Given the description of an element on the screen output the (x, y) to click on. 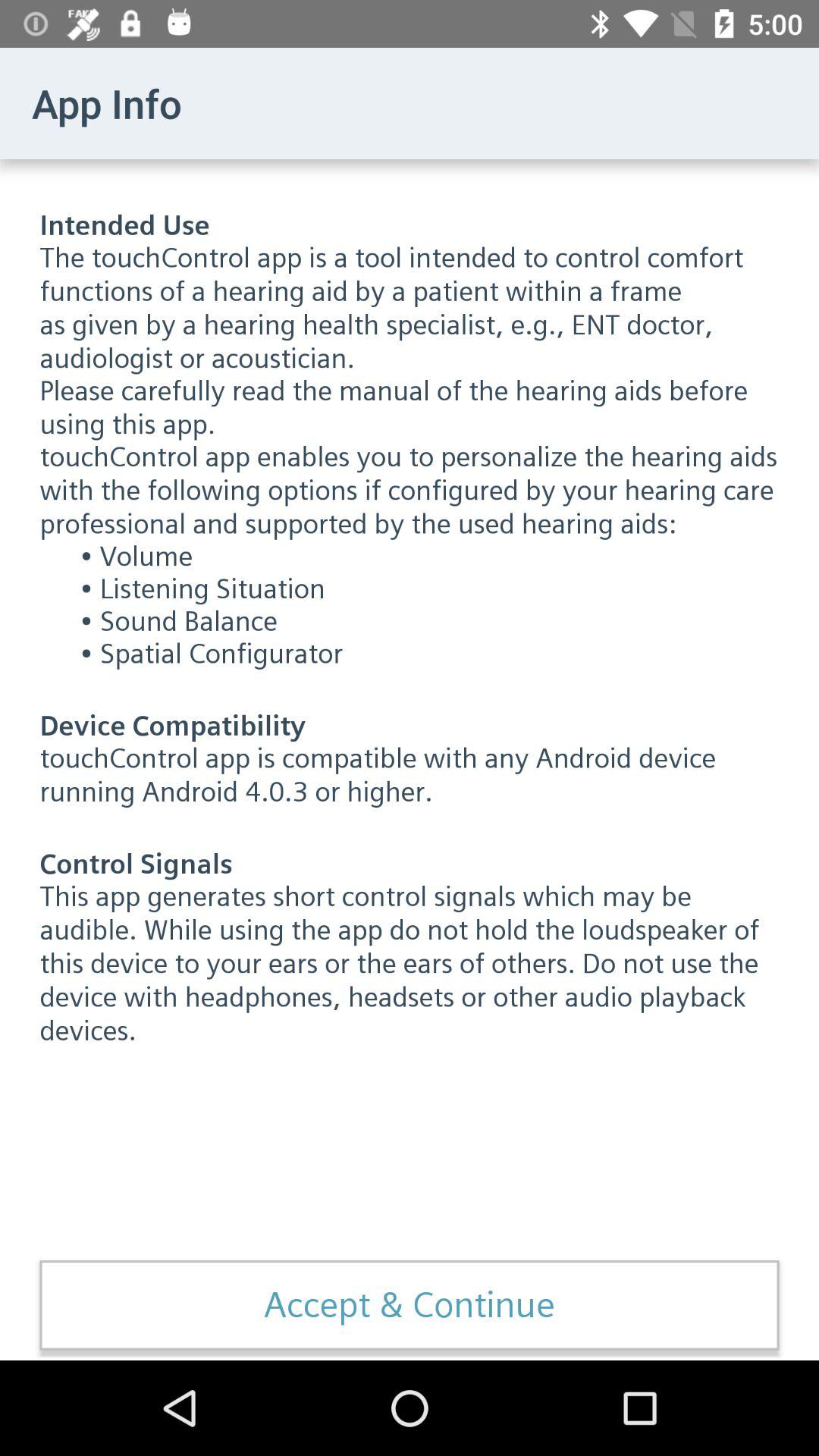
turn off the icon below this app generates item (409, 1305)
